Given the description of an element on the screen output the (x, y) to click on. 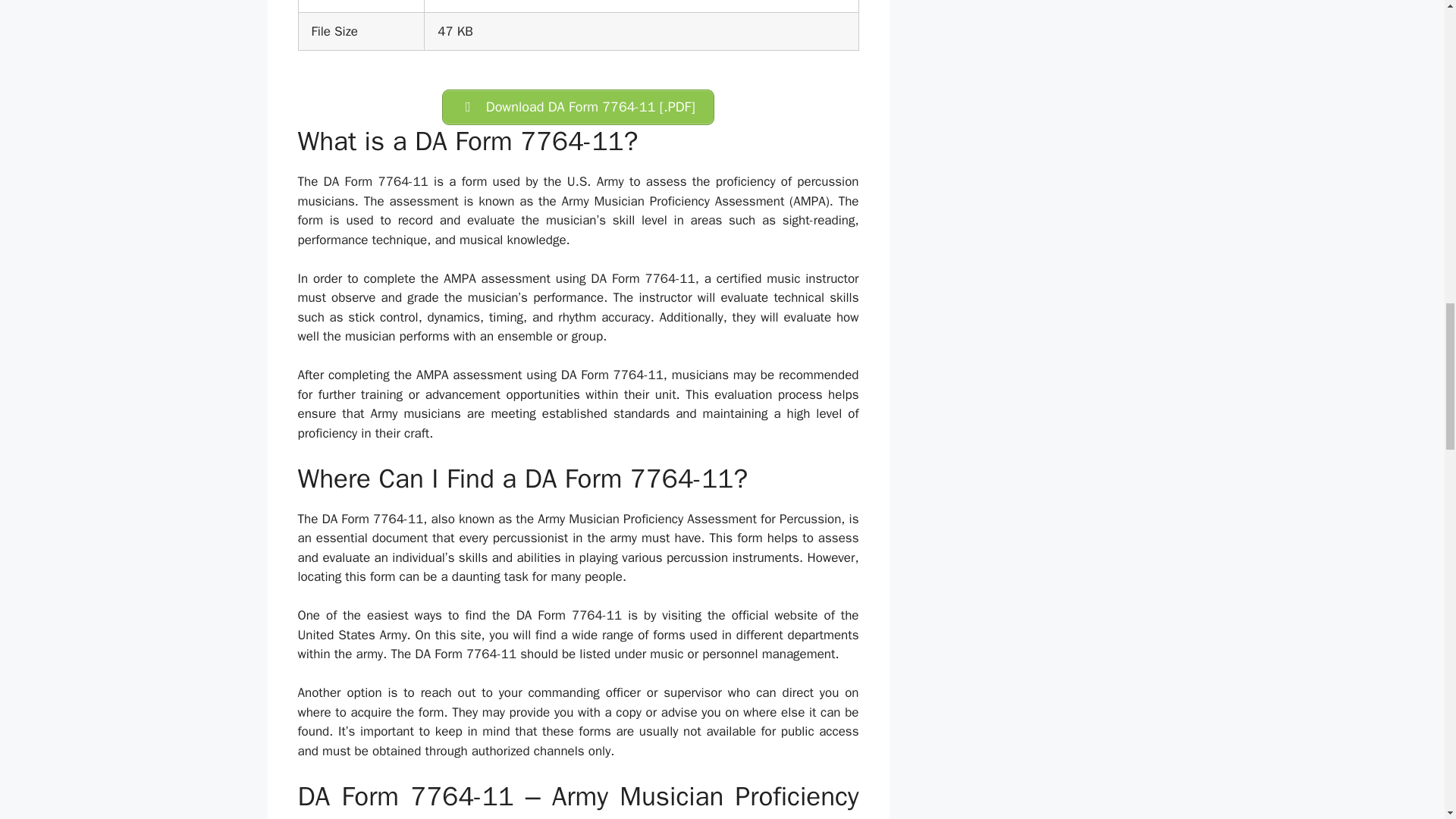
Download DA Form 7764-11 (577, 107)
